Given the description of an element on the screen output the (x, y) to click on. 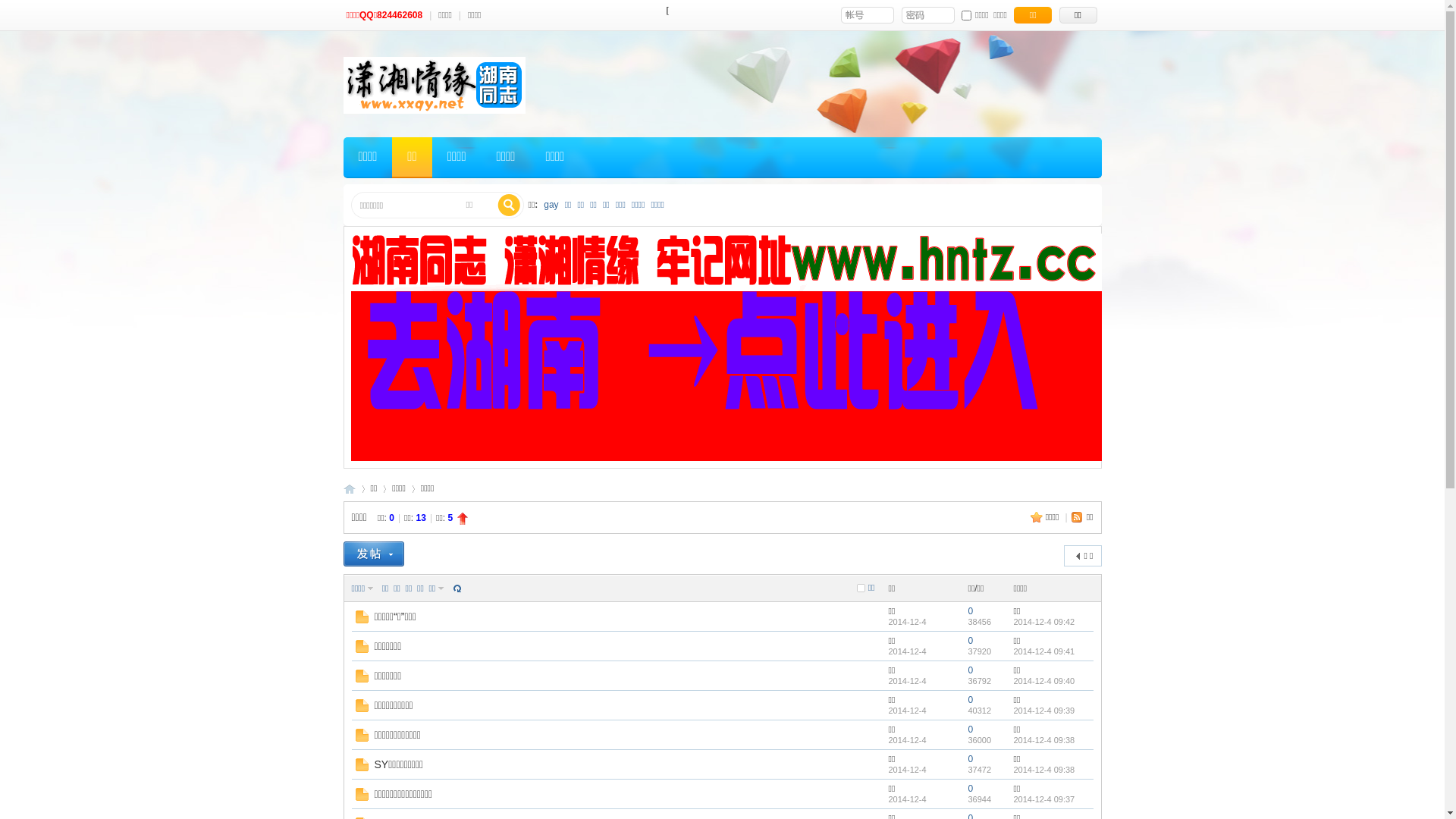
0 Element type: text (969, 758)
2014-12-4 09:37 Element type: text (1043, 798)
true Element type: text (508, 205)
0 Element type: text (969, 729)
2014-12-4 09:42 Element type: text (1043, 621)
gay Element type: text (550, 204)
0 Element type: text (969, 788)
2014-12-4 09:40 Element type: text (1043, 680)
0 Element type: text (969, 610)
2014-12-4 09:38 Element type: text (1043, 739)
0 Element type: text (969, 699)
2014-12-4 09:38 Element type: text (1043, 769)
2014-12-4 09:41 Element type: text (1043, 650)
0 Element type: text (969, 670)
2014-12-4 09:39 Element type: text (1043, 710)
0 Element type: text (969, 640)
